Given the description of an element on the screen output the (x, y) to click on. 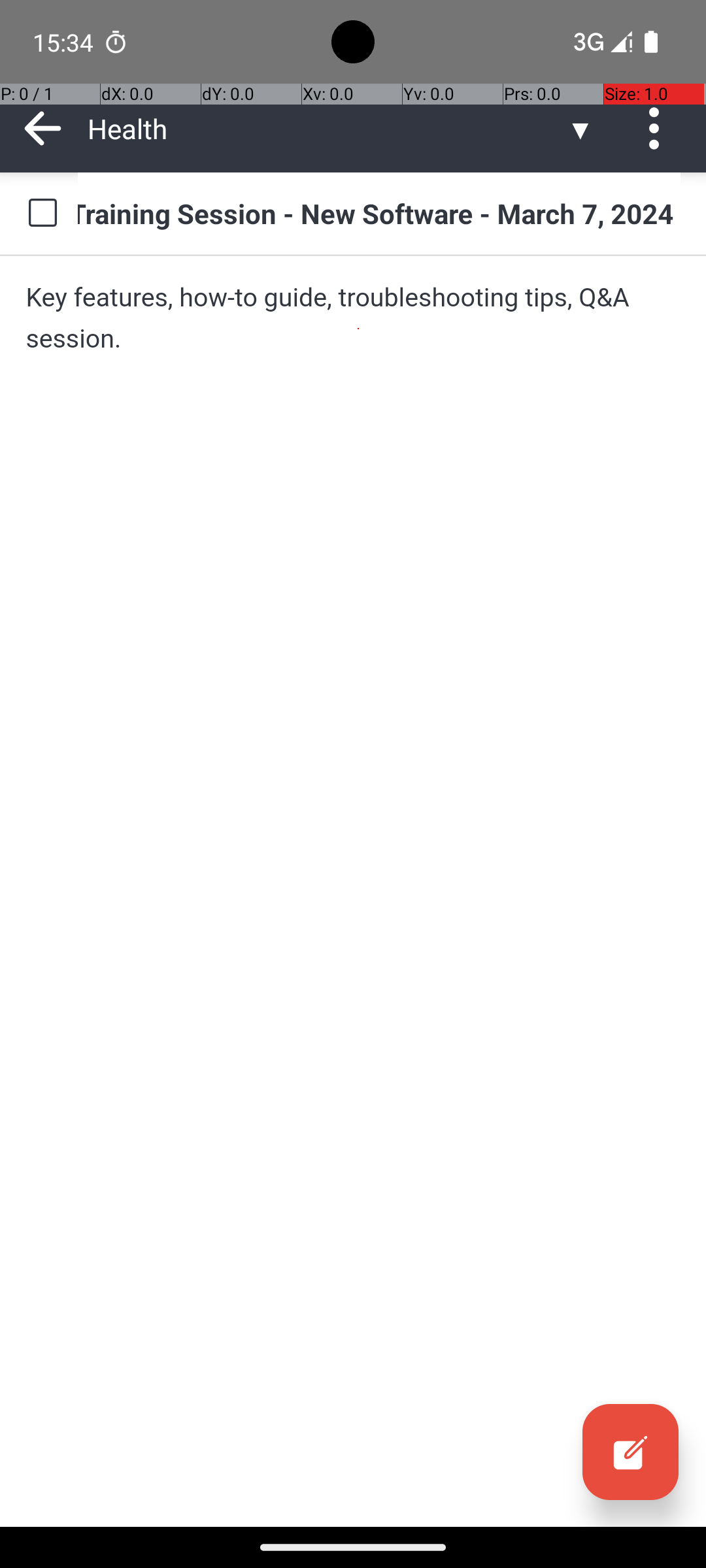
Key features, how-to guide, troubleshooting tips, Q&A session. Element type: android.widget.TextView (352, 317)
